Given the description of an element on the screen output the (x, y) to click on. 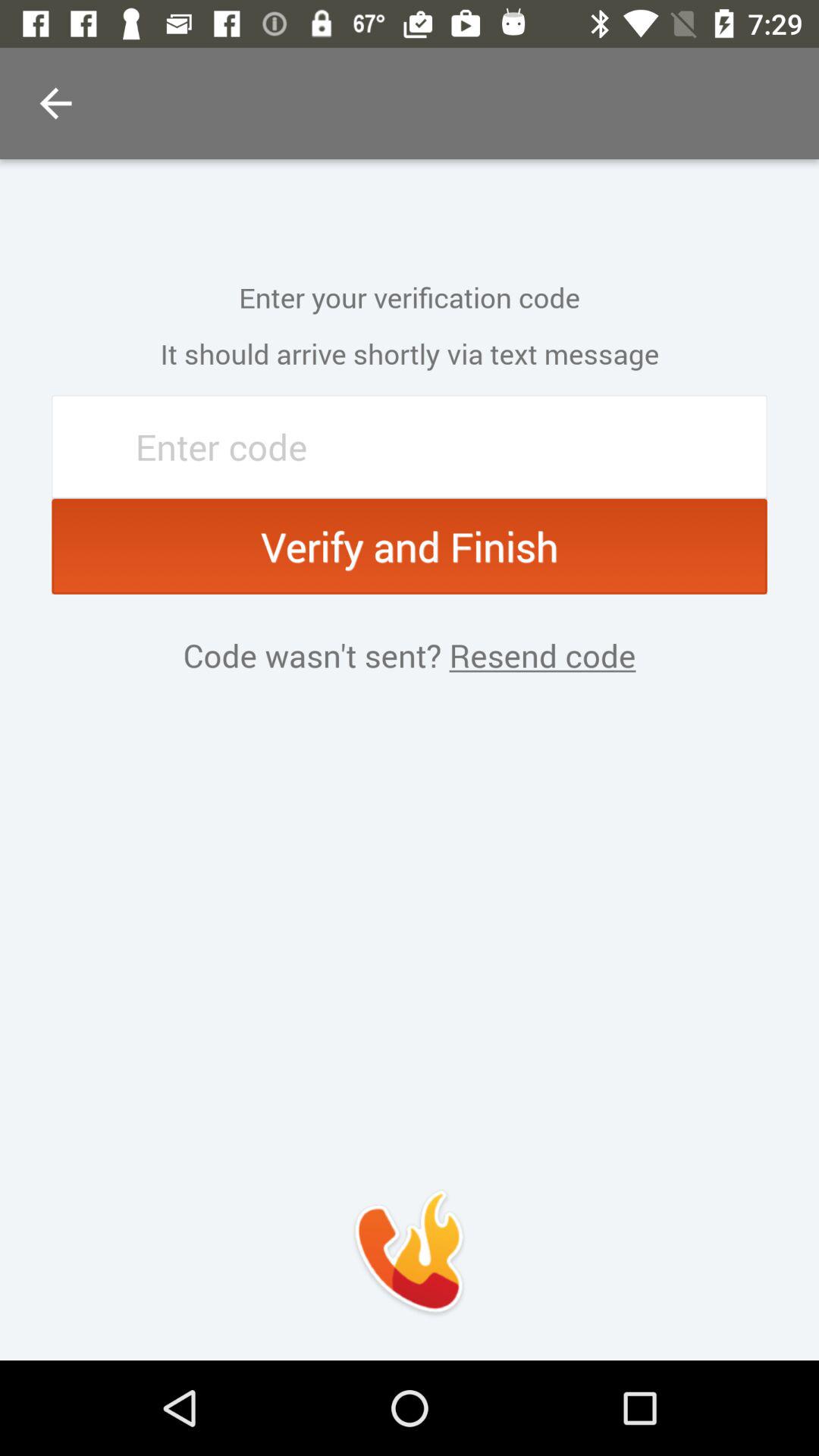
click icon below the it should arrive (409, 446)
